Given the description of an element on the screen output the (x, y) to click on. 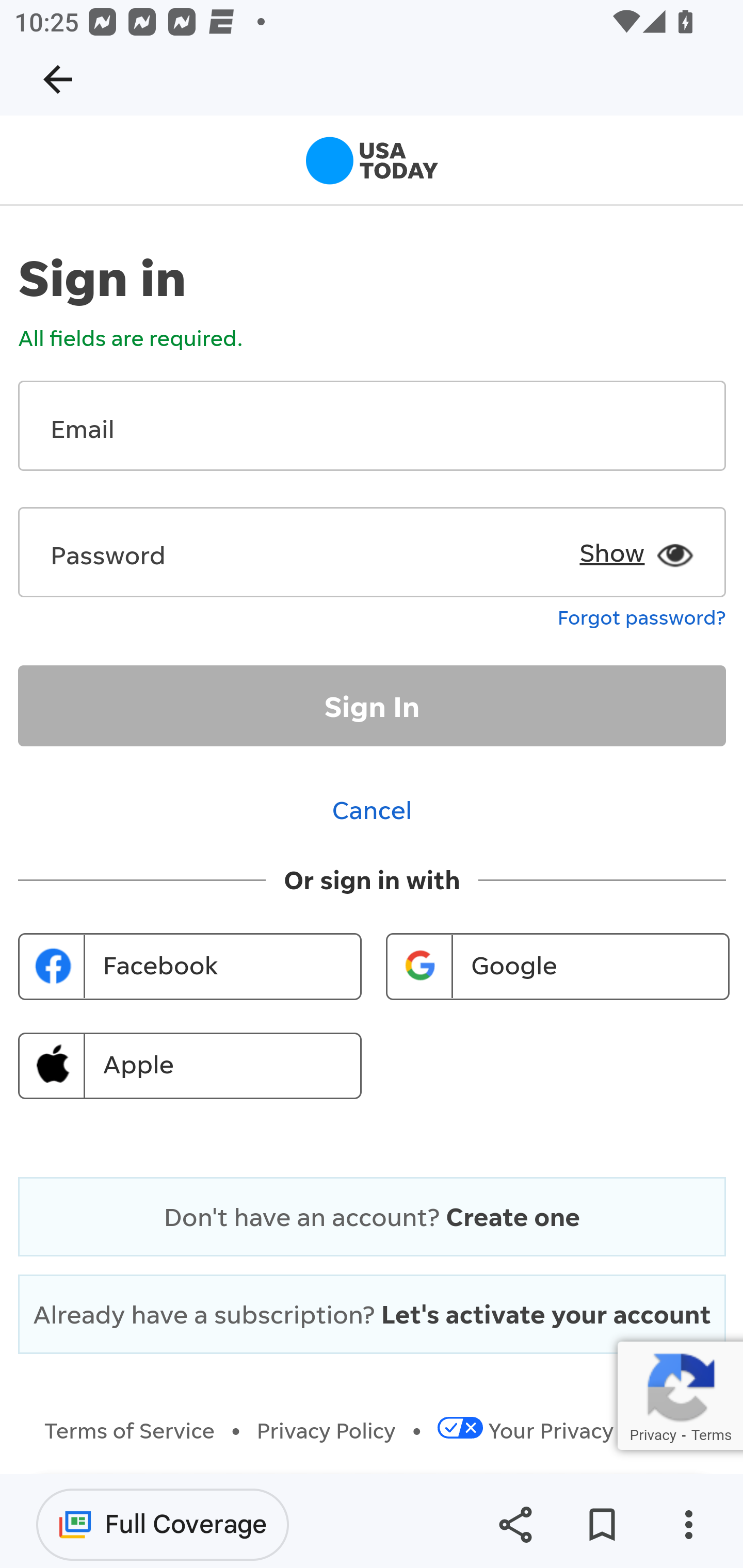
Navigate up (57, 79)
USA TODAY (371, 163)
Show (630, 544)
Forgot password? (641, 614)
Sign In (372, 705)
Cancel (372, 808)
Facebook (189, 966)
Google (557, 966)
Apple (189, 1065)
Don't have an account? Create one (371, 1216)
Terms of Service (129, 1430)
Privacy Policy (326, 1430)
Privacy (652, 1434)
Terms (711, 1434)
Share (514, 1524)
Save for later (601, 1524)
More options (688, 1524)
Full Coverage (162, 1524)
